Given the description of an element on the screen output the (x, y) to click on. 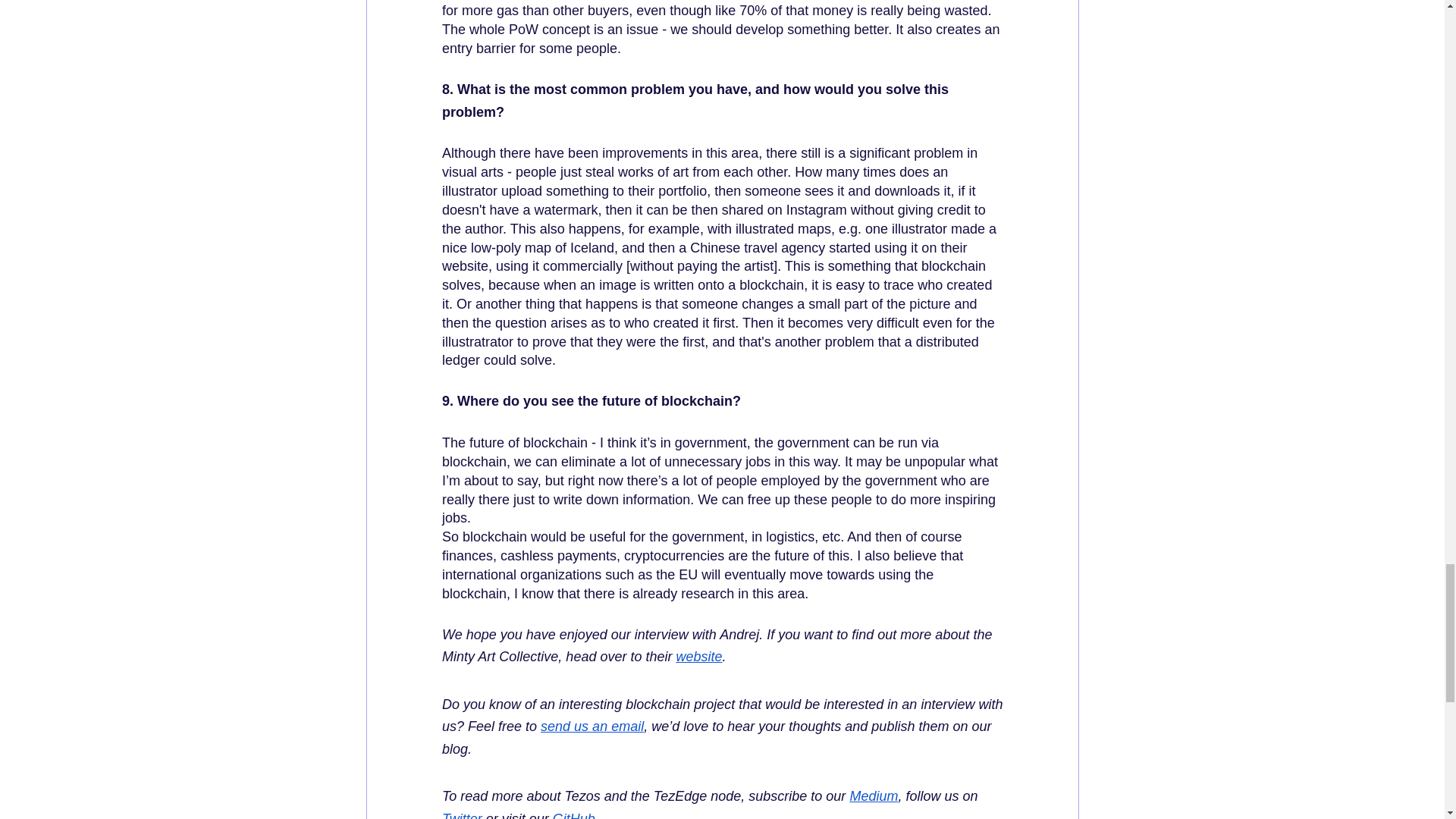
Twitter (461, 815)
website (698, 656)
Medium (873, 795)
send us an email (591, 726)
GitHub (572, 815)
